Given the description of an element on the screen output the (x, y) to click on. 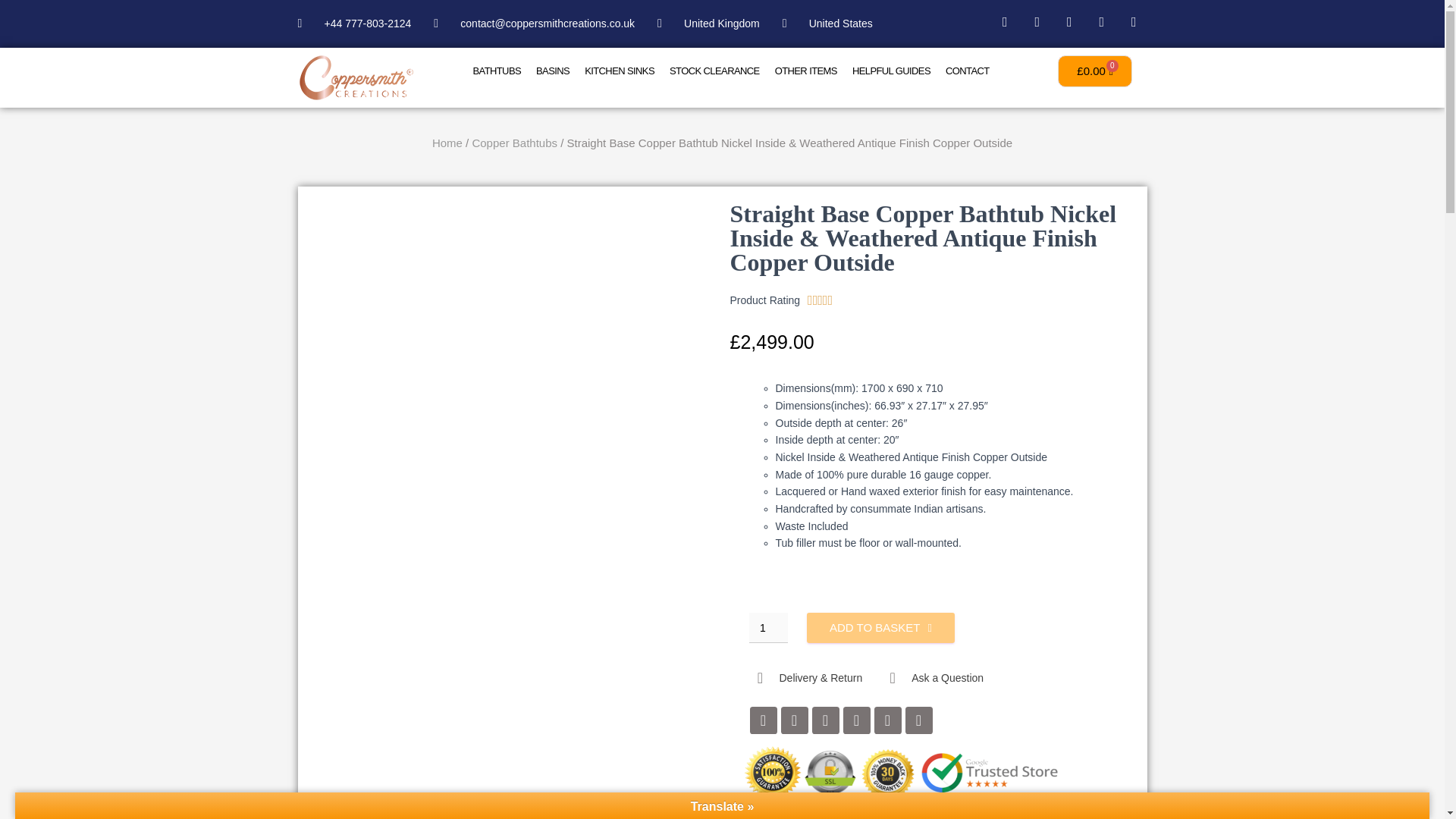
KITCHEN SINKS (619, 70)
OTHER ITEMS (805, 70)
United Kingdom (709, 23)
United States (827, 23)
STOCK CLEARANCE (714, 70)
BATHTUBS (496, 70)
BASINS (552, 70)
1 (768, 627)
